Given the description of an element on the screen output the (x, y) to click on. 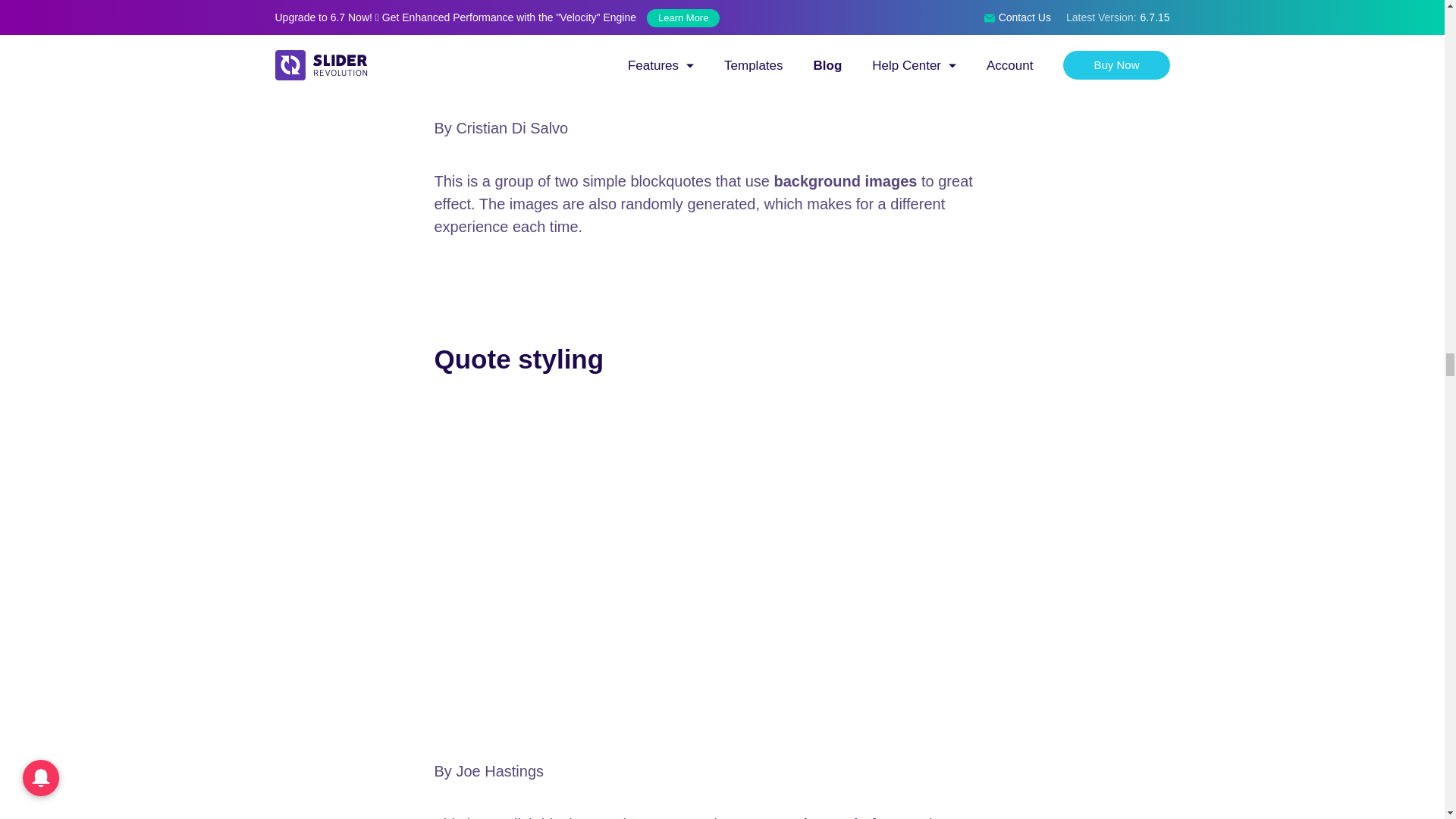
CodePen Embed YJxbKO (721, 47)
